Given the description of an element on the screen output the (x, y) to click on. 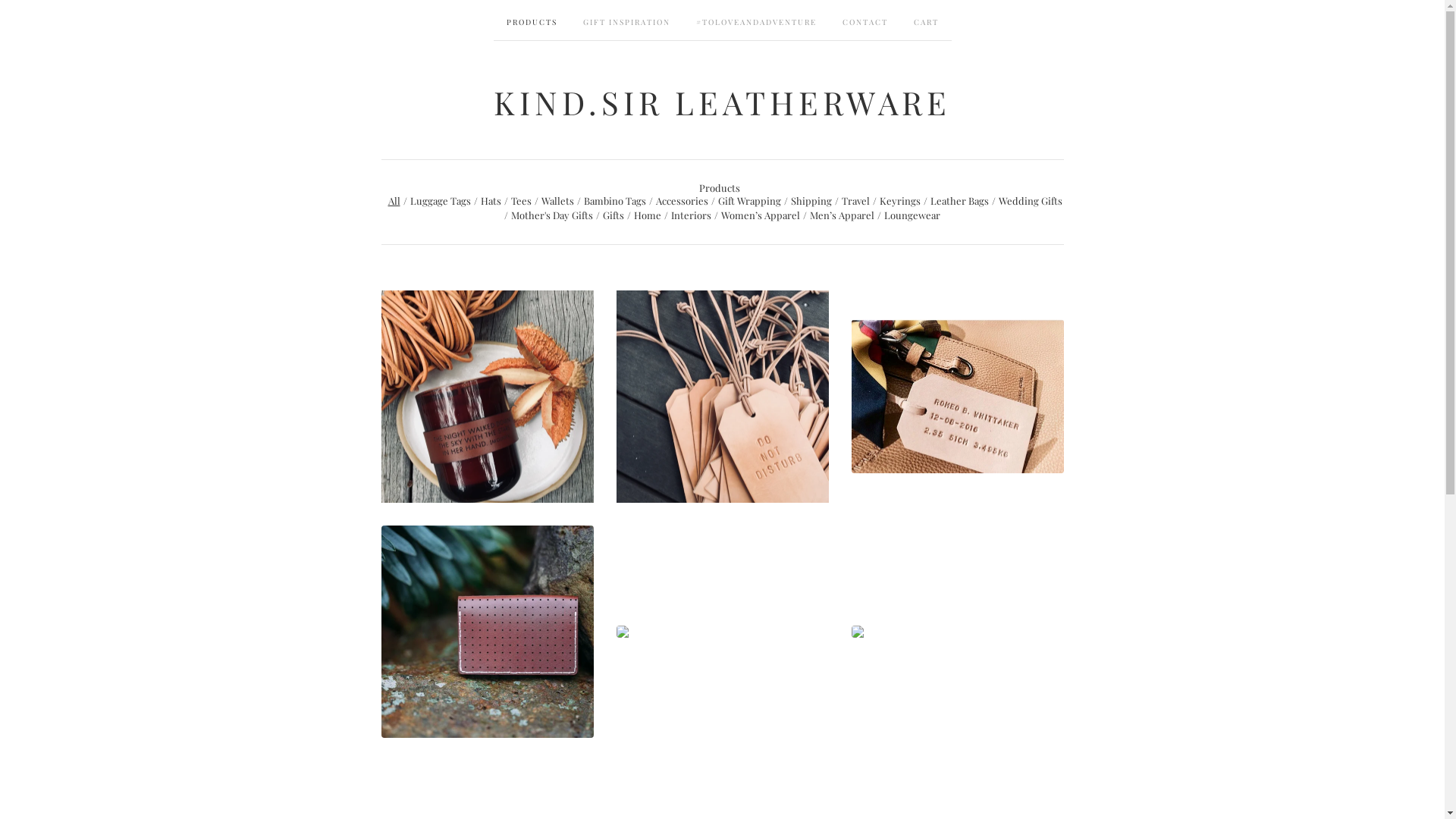
Gifts Element type: text (613, 214)
PRODUCTS Element type: text (530, 20)
Mother's Day Gifts Element type: text (552, 214)
CART Element type: text (925, 20)
View CALME [CALM] RITUAL CANDLE Element type: hover (486, 395)
Travel Element type: text (855, 200)
Wallets Element type: text (557, 200)
Bambino Tags Element type: text (614, 200)
View The Everyday Key Ring Element type: hover (956, 630)
Accessories Element type: text (681, 200)
View Do Not Disturb Leather Tag Element type: hover (721, 395)
Shipping Element type: text (810, 200)
#TOLOVEANDADVENTURE Element type: text (755, 20)
Tees Element type: text (521, 200)
Gift Wrapping Element type: text (748, 200)
GIFT INSPIRATION Element type: text (626, 20)
View The Baxter Slimline Wallet Element type: hover (721, 630)
Wedding Gifts Element type: text (1029, 200)
Loungewear Element type: text (912, 214)
Home Element type: text (647, 214)
CONTACT Element type: text (864, 20)
Luggage Tags Element type: text (439, 200)
View The Edmund Compact Wallet Element type: hover (486, 630)
Hats Element type: text (490, 200)
View The Bambino Keepsake Tag  Element type: hover (956, 395)
All Element type: text (394, 200)
KIND.SIR LEATHERWARE Element type: text (721, 101)
Keyrings Element type: text (899, 200)
Interiors Element type: text (691, 214)
Leather Bags Element type: text (958, 200)
